Given the description of an element on the screen output the (x, y) to click on. 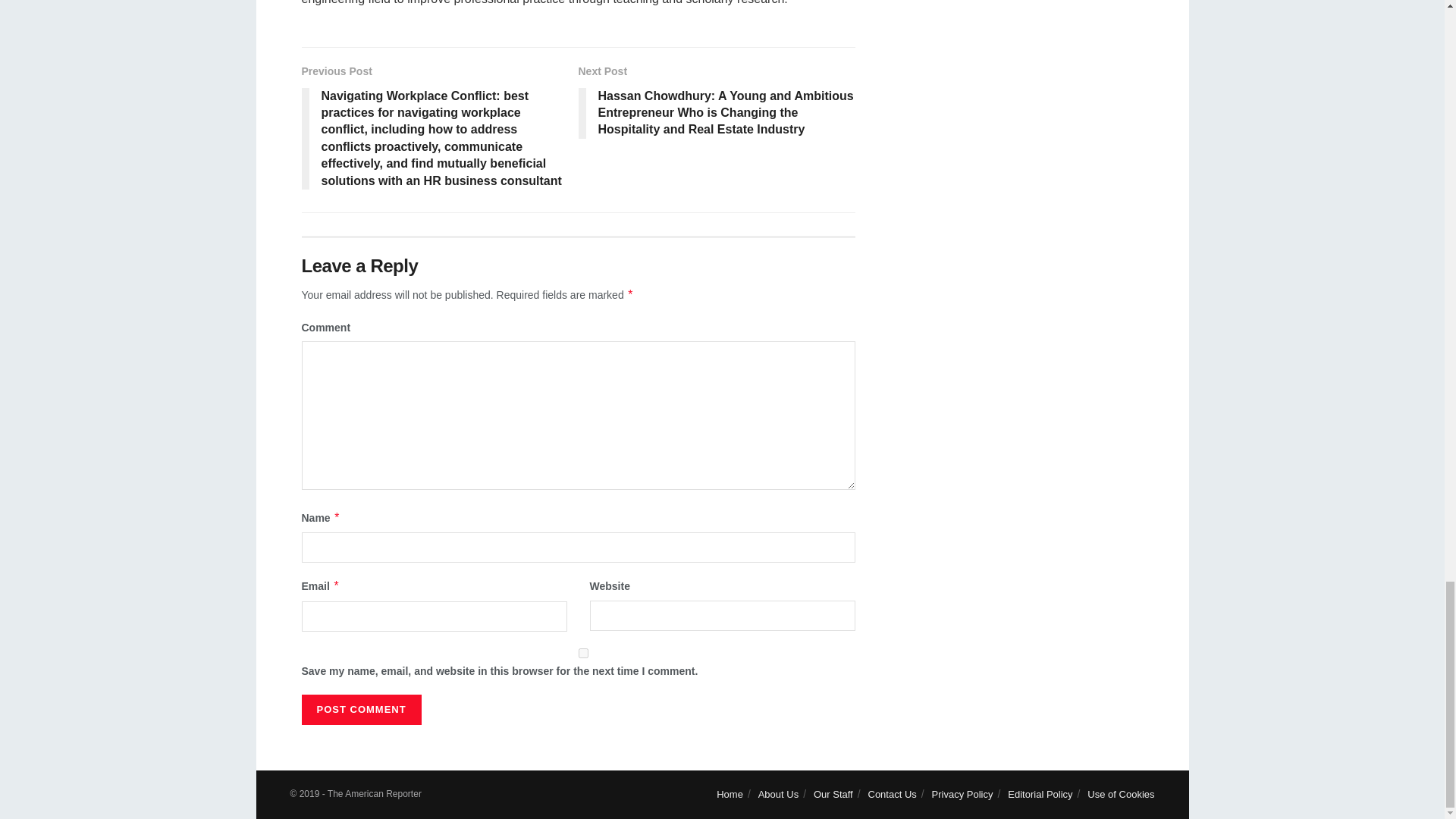
yes (583, 653)
Post Comment (361, 709)
